Given the description of an element on the screen output the (x, y) to click on. 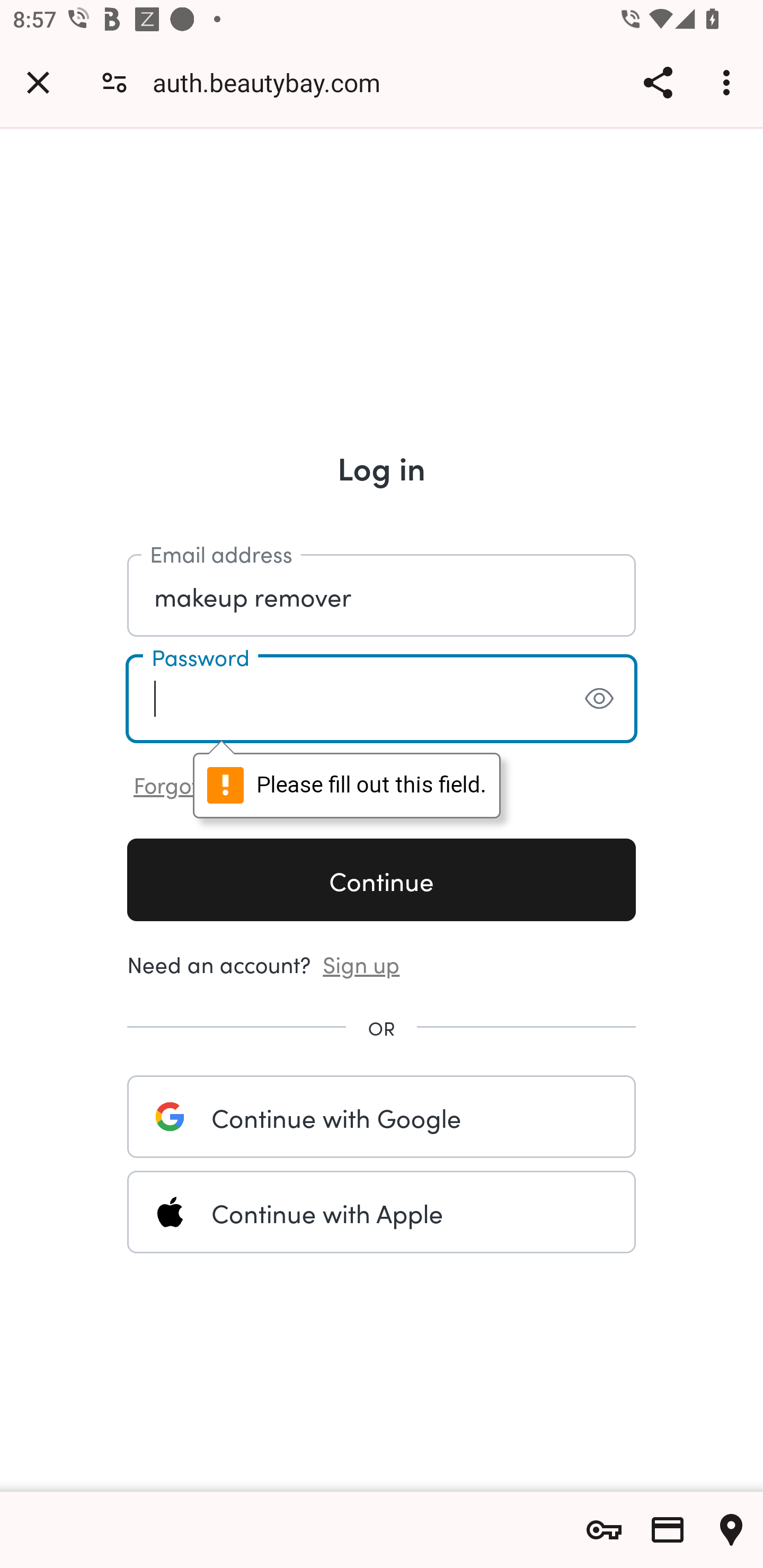
Close tab (38, 82)
Share (657, 82)
Customize and control Google Chrome (729, 82)
Connection is secure (114, 81)
auth.beautybay.com (272, 81)
makeup remover (381, 594)
Show password (599, 698)
Continue (381, 879)
Sign up (361, 962)
Continue with Google (381, 1116)
Continue with Apple (381, 1211)
Show saved passwords and password options (603, 1530)
Show saved payment methods (667, 1530)
Show saved addresses (731, 1530)
